Given the description of an element on the screen output the (x, y) to click on. 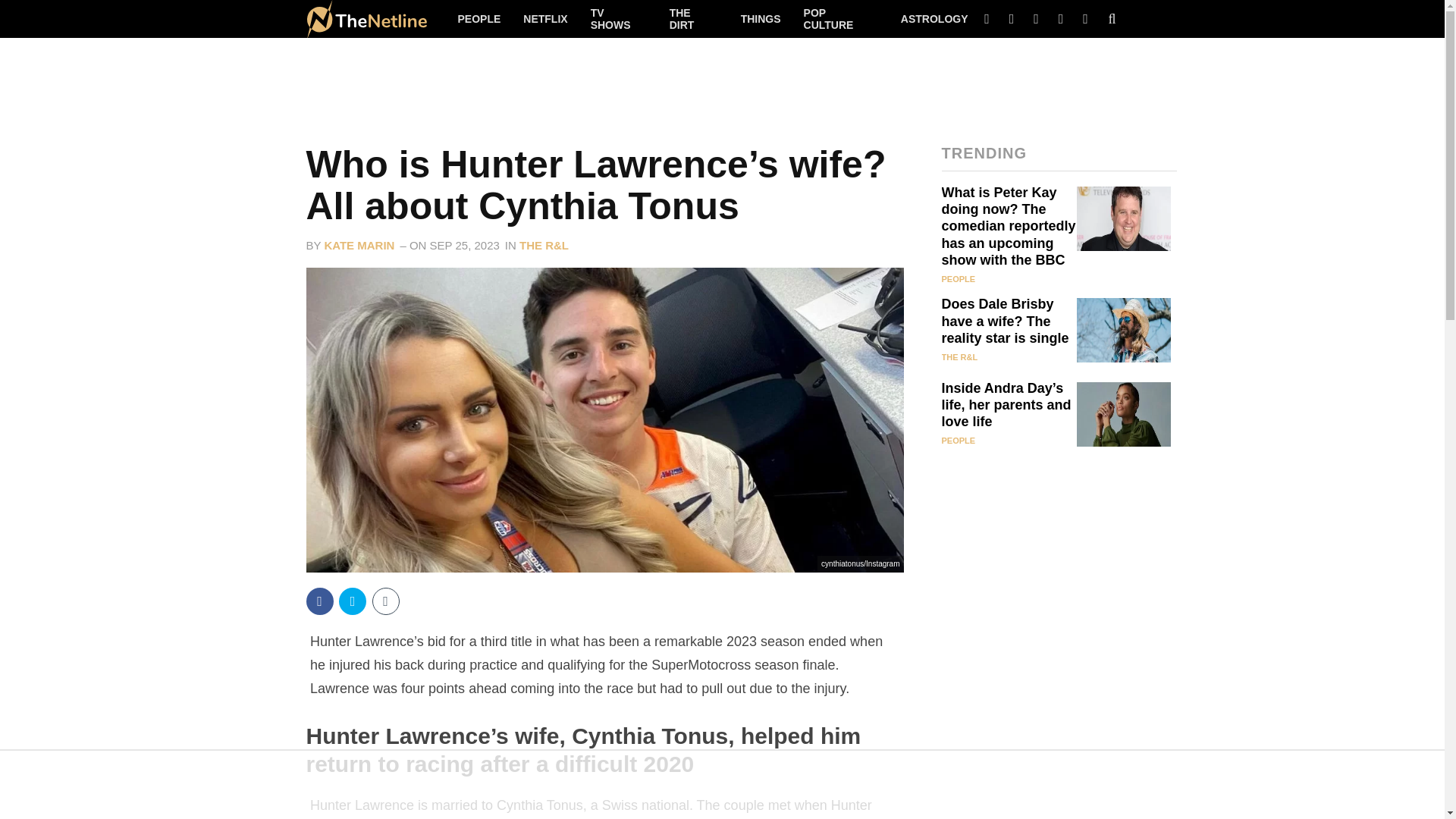
ASTROLOGY (934, 18)
THE DIRT (693, 18)
POP CULTURE (840, 18)
TV SHOWS (618, 18)
Does Dale Brisby have a wife? The reality star is single (1005, 322)
KATE MARIN (358, 245)
PEOPLE (478, 18)
NETFLIX (545, 18)
THINGS (761, 18)
